Given the description of an element on the screen output the (x, y) to click on. 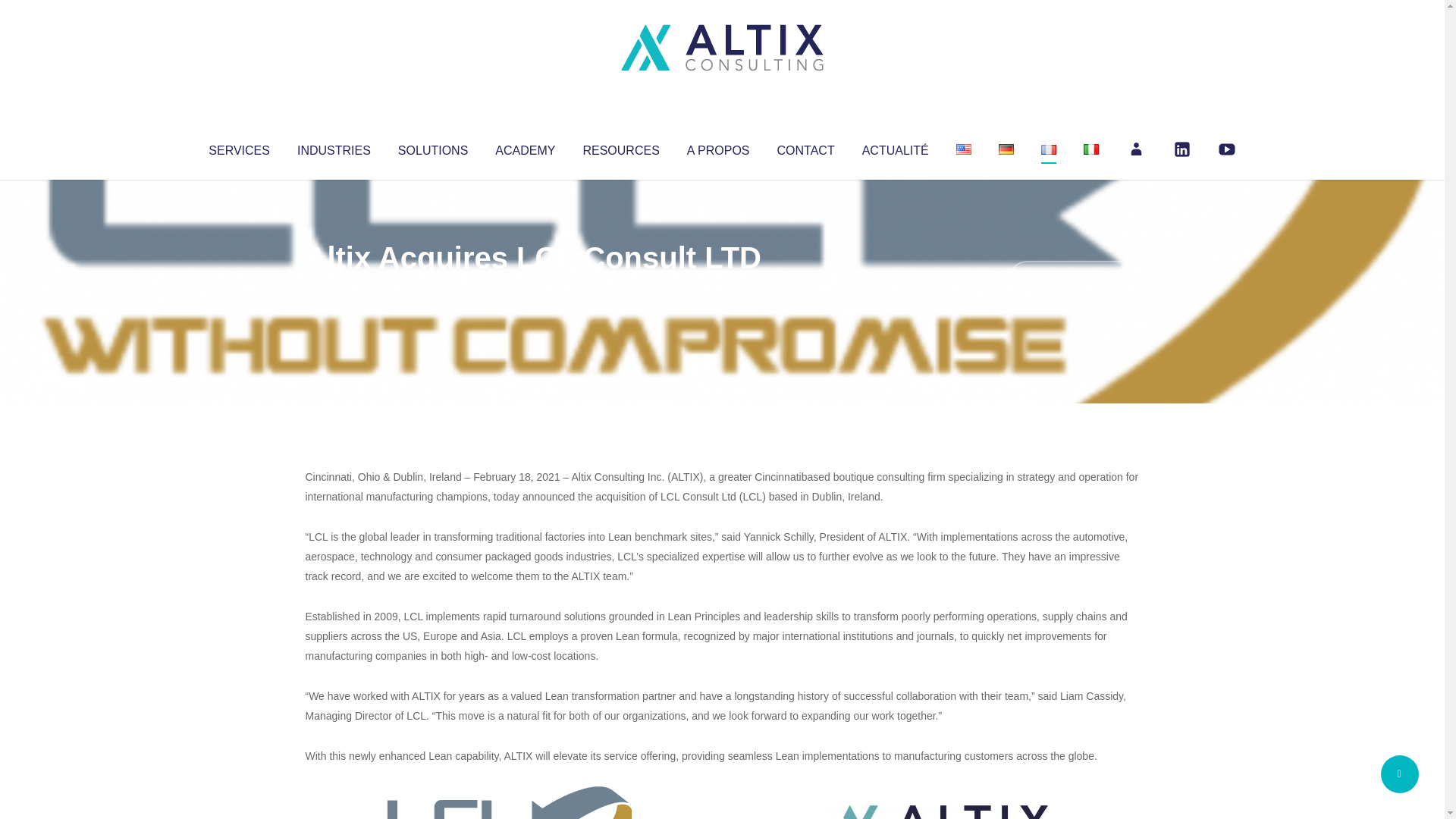
Uncategorized (530, 287)
Altix (333, 287)
SERVICES (238, 146)
RESOURCES (620, 146)
INDUSTRIES (334, 146)
A PROPOS (718, 146)
ACADEMY (524, 146)
Articles par Altix (333, 287)
No Comments (1073, 278)
SOLUTIONS (432, 146)
